Given the description of an element on the screen output the (x, y) to click on. 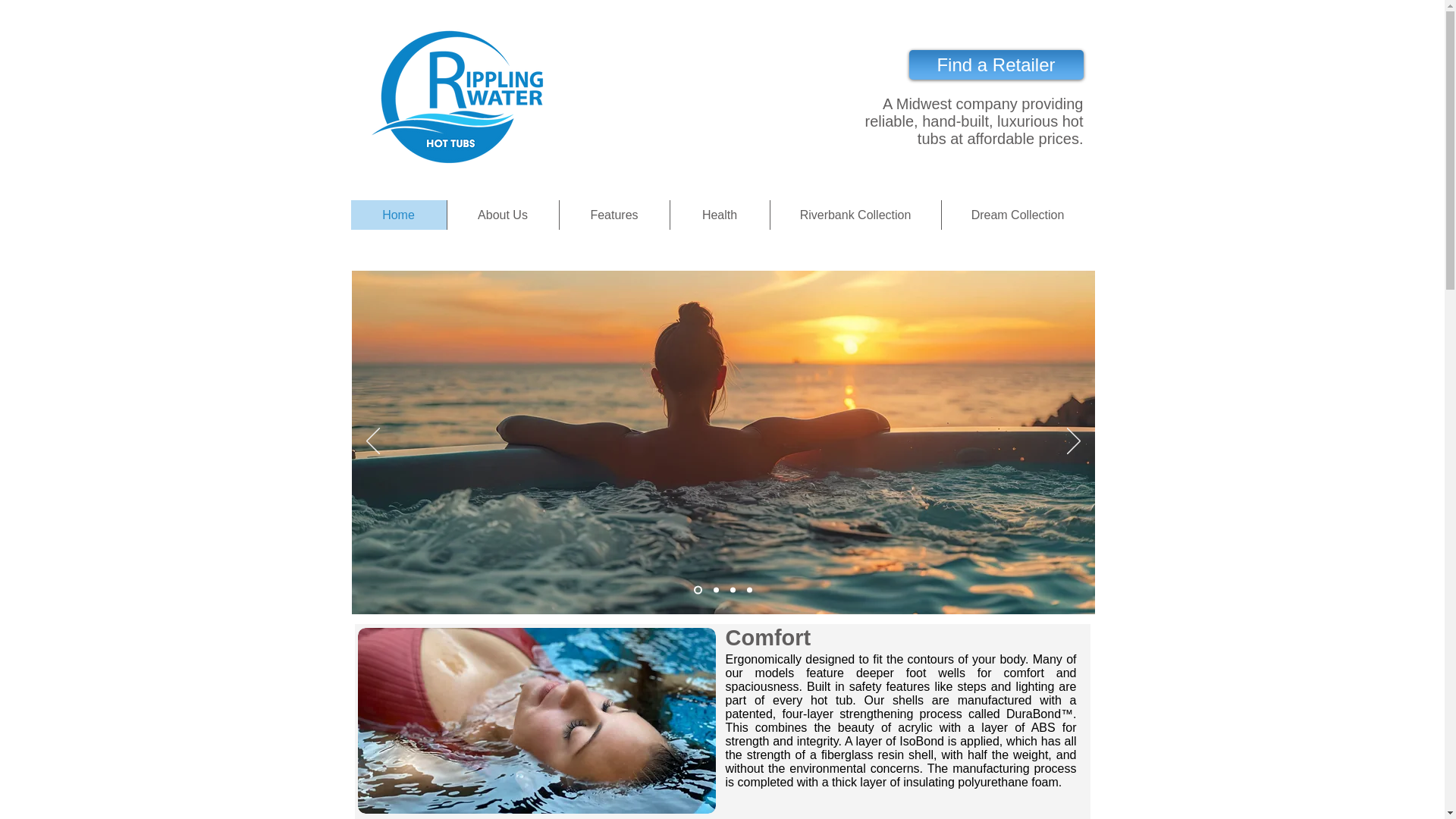
Riverbank Collection (854, 214)
About Us (501, 214)
Home (397, 214)
Features (612, 214)
Health (718, 214)
Dream Collection (1016, 214)
Find a Retailer (995, 64)
